Given the description of an element on the screen output the (x, y) to click on. 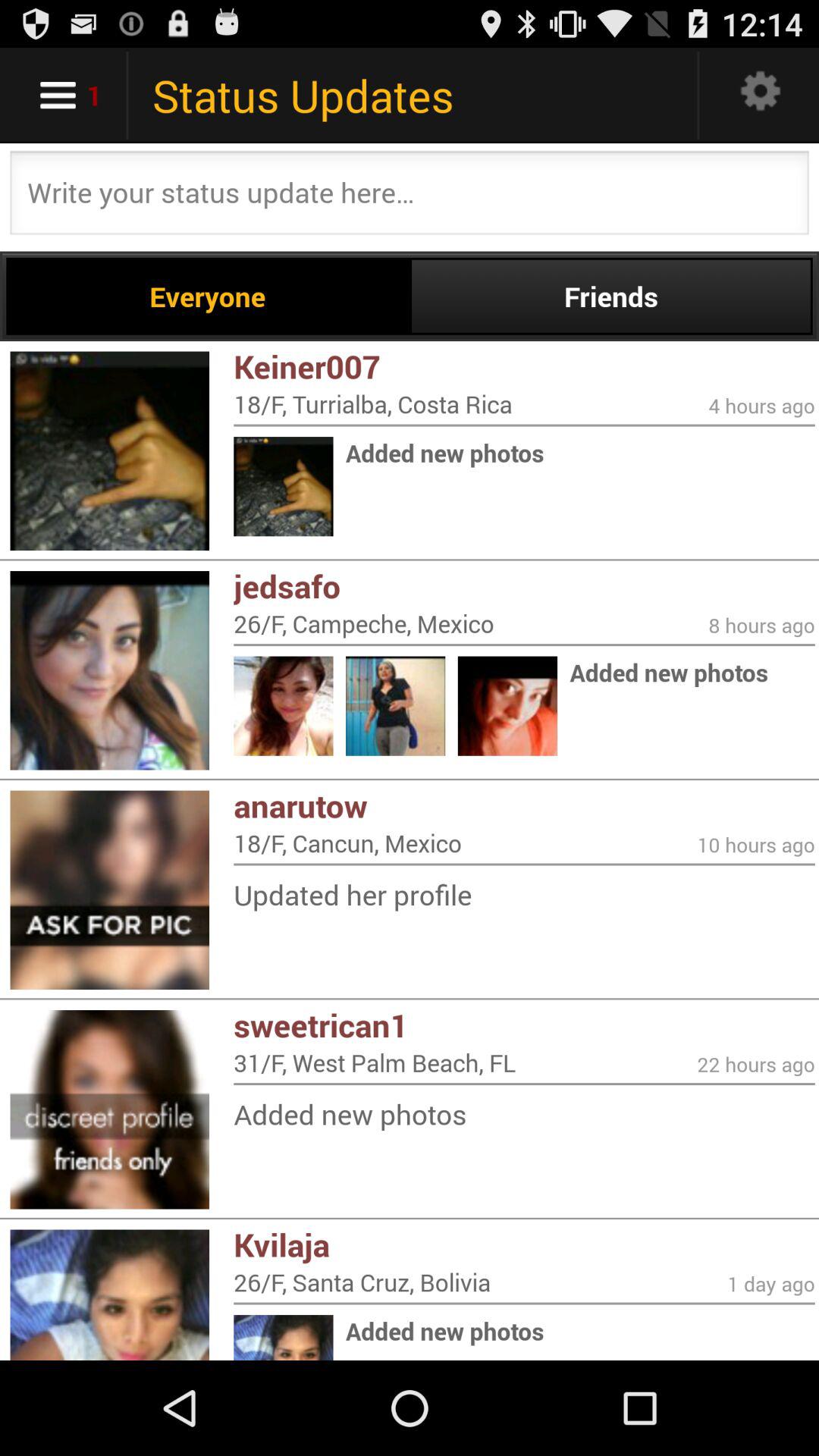
select updated her profile item (524, 894)
